Given the description of an element on the screen output the (x, y) to click on. 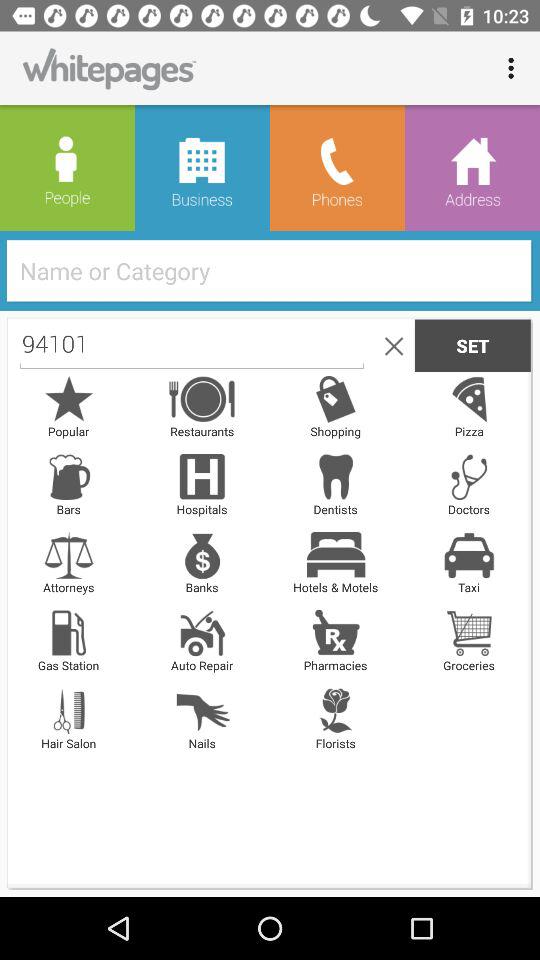
press the item to the right of 94101 icon (390, 345)
